Given the description of an element on the screen output the (x, y) to click on. 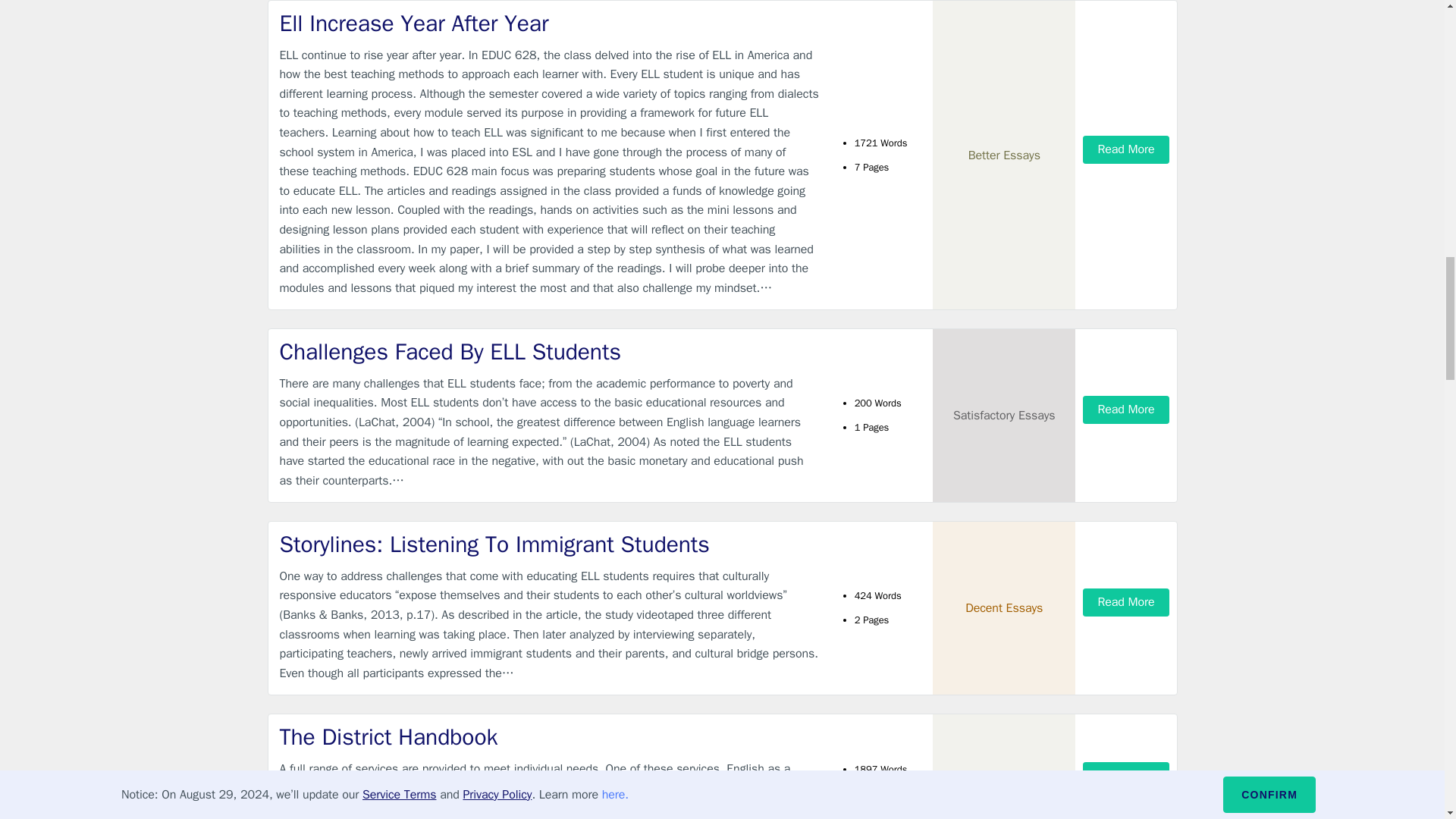
Read More (1126, 149)
Read More (1126, 776)
Ell Increase Year After Year (548, 23)
Read More (1126, 602)
Challenges Faced By ELL Students (548, 351)
Storylines: Listening To Immigrant Students (548, 544)
The District Handbook (548, 736)
Read More (1126, 409)
